Given the description of an element on the screen output the (x, y) to click on. 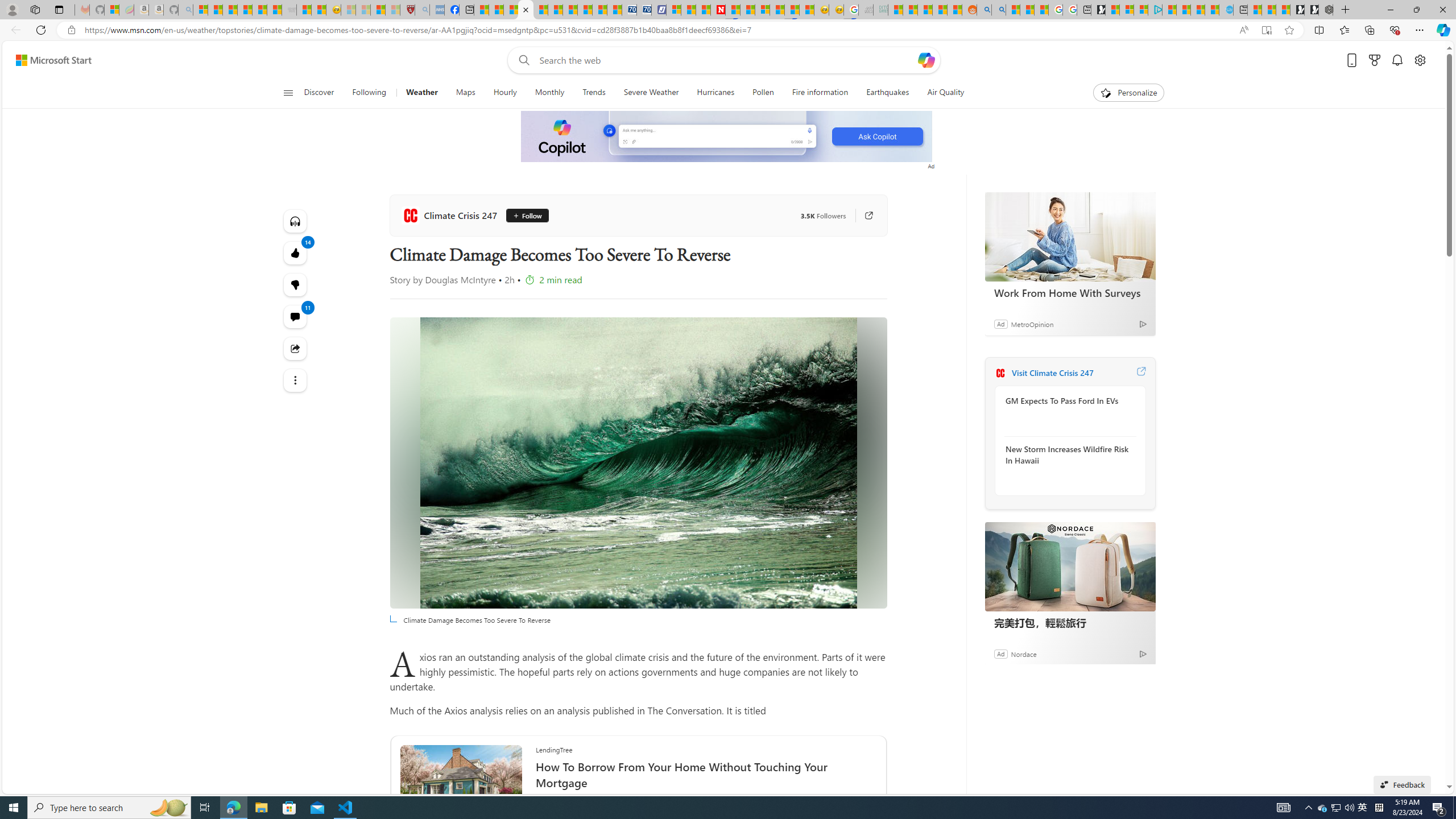
Student Loan Update: Forgiveness Program Ends This Month (939, 9)
Air Quality (940, 92)
Work From Home With Surveys (1070, 236)
Share this story (295, 348)
Trends (593, 92)
Air Quality (945, 92)
